Given the description of an element on the screen output the (x, y) to click on. 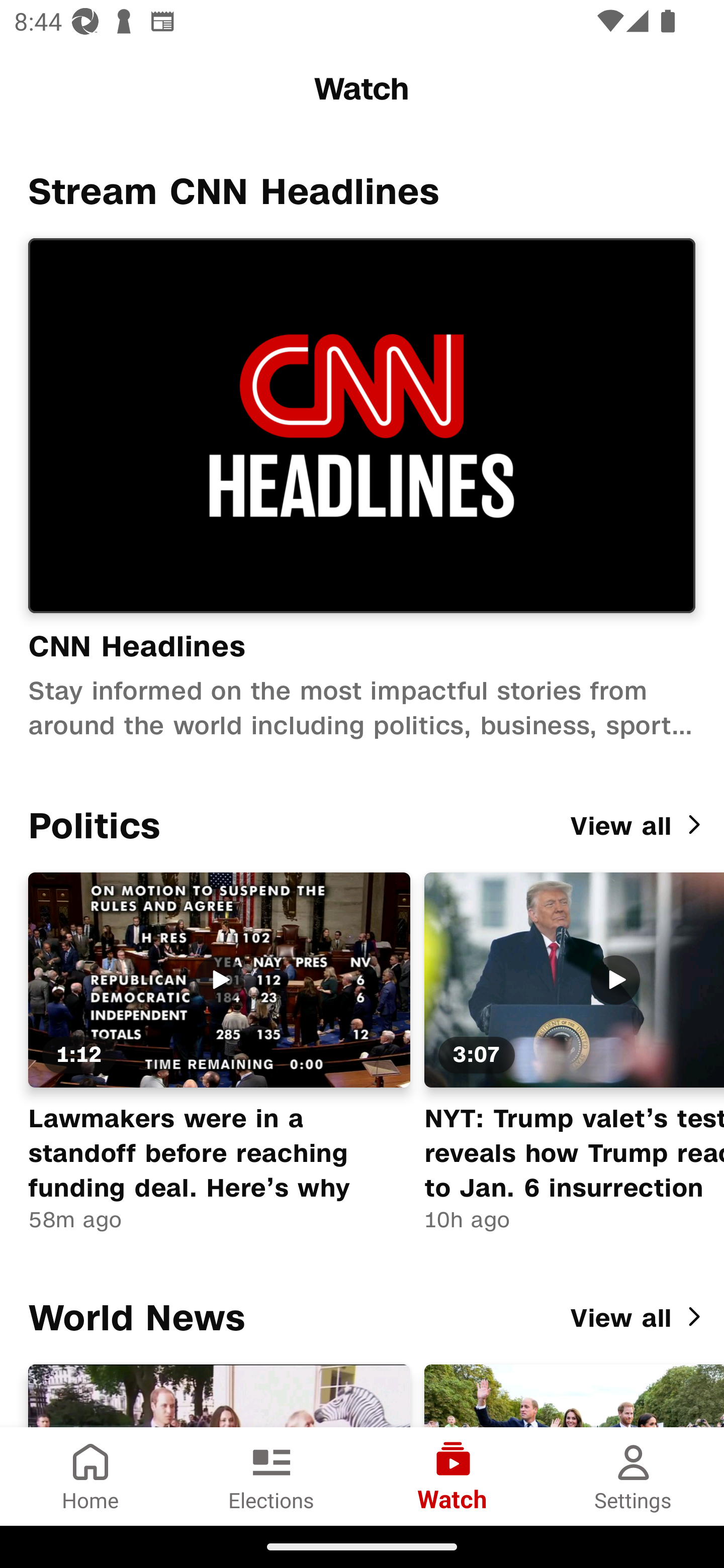
View all (639, 826)
View all (639, 1318)
Home (90, 1475)
Elections (271, 1475)
Settings (633, 1475)
